Given the description of an element on the screen output the (x, y) to click on. 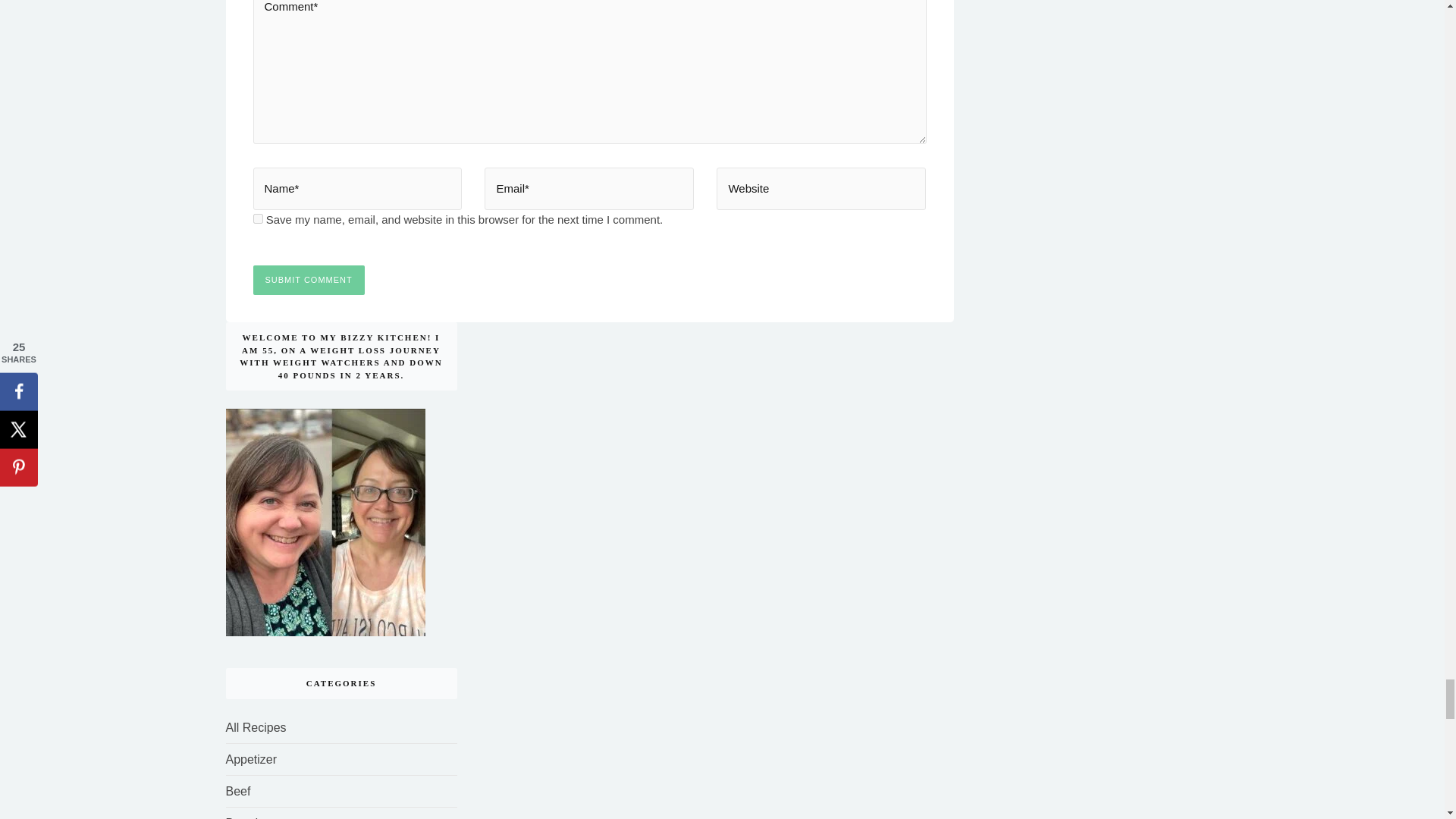
Submit Comment (309, 279)
yes (258, 218)
